Given the description of an element on the screen output the (x, y) to click on. 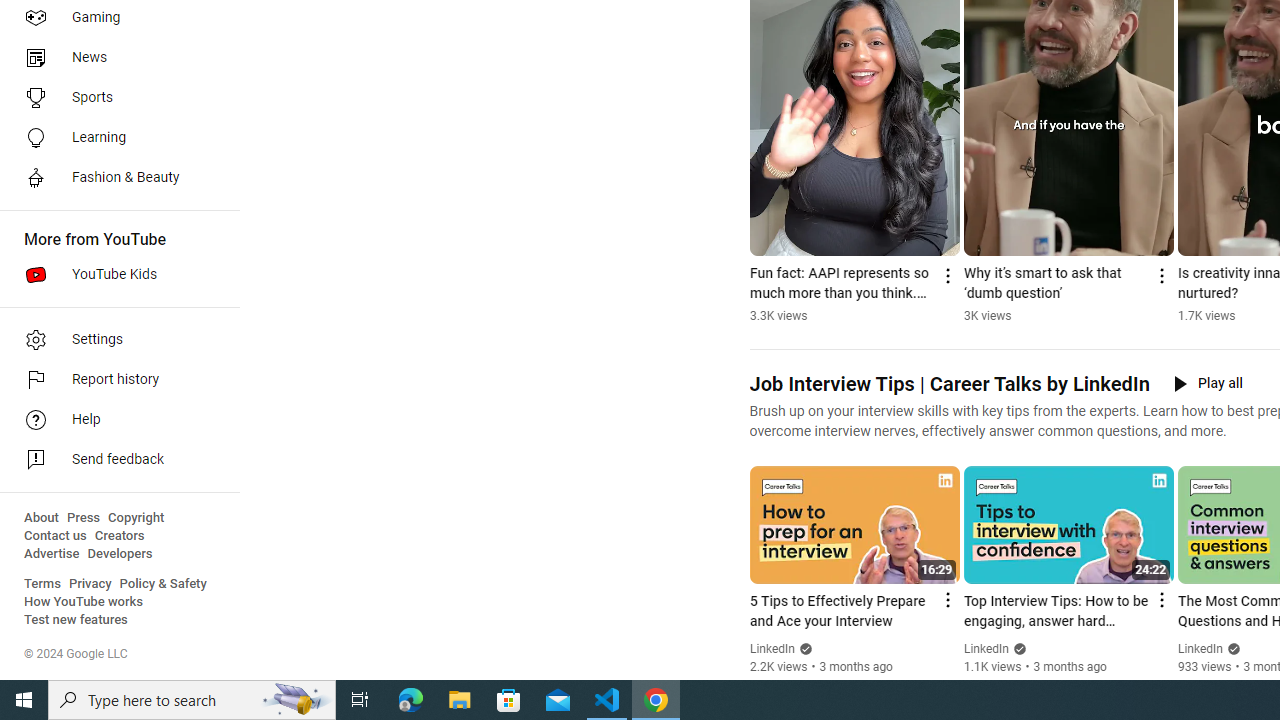
Privacy (89, 584)
